Given the description of an element on the screen output the (x, y) to click on. 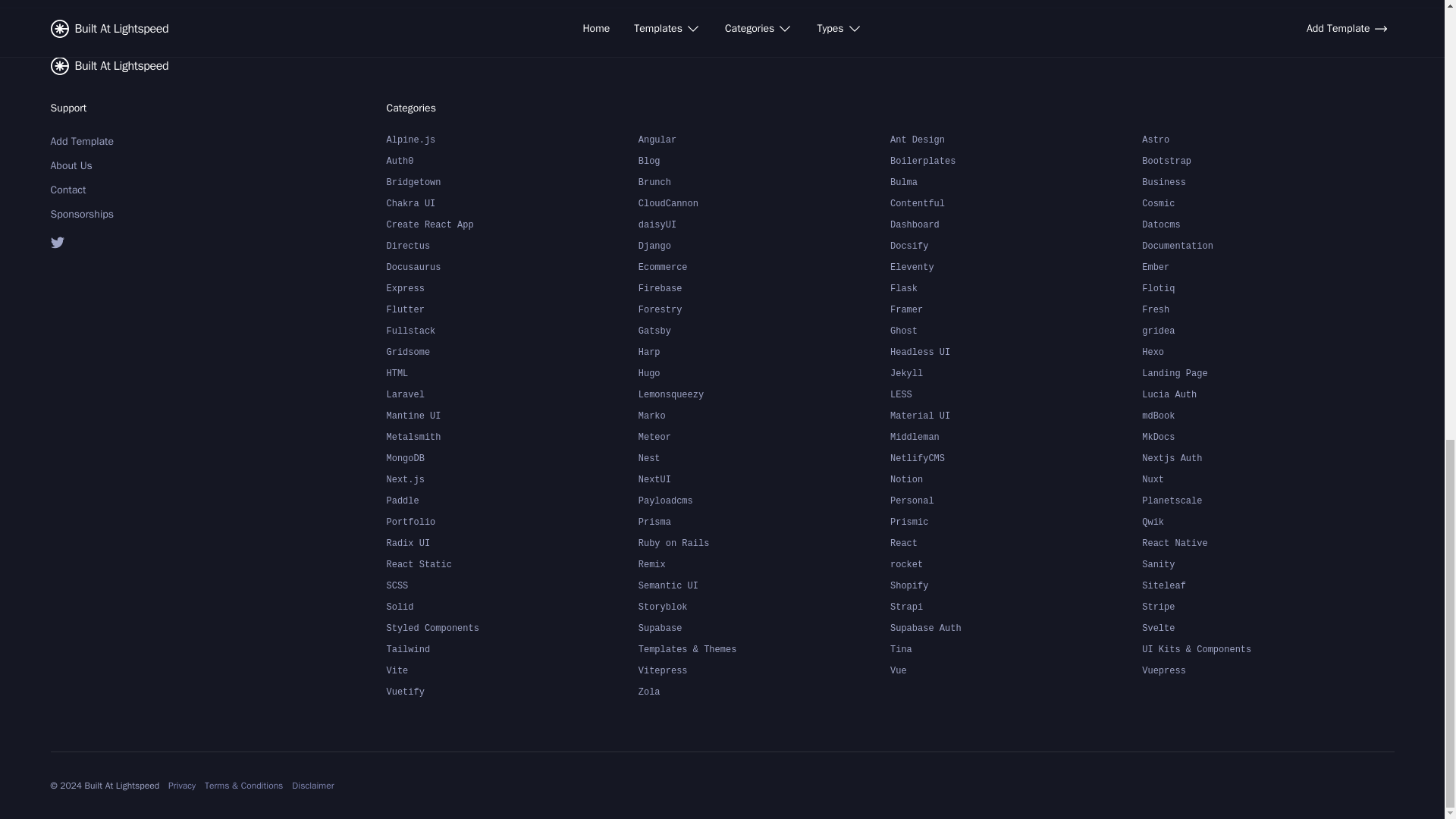
Bulma (1015, 181)
Angular (764, 138)
Directus (513, 245)
Add Template (127, 140)
Docsify (1015, 245)
Cosmic (1267, 202)
Ant Design (1015, 138)
Datocms (1267, 224)
Dashboard (1015, 224)
Business (1267, 181)
About Us (127, 165)
Blog (764, 160)
Bridgetown (513, 181)
Documentation (1267, 245)
Brunch (764, 181)
